Given the description of an element on the screen output the (x, y) to click on. 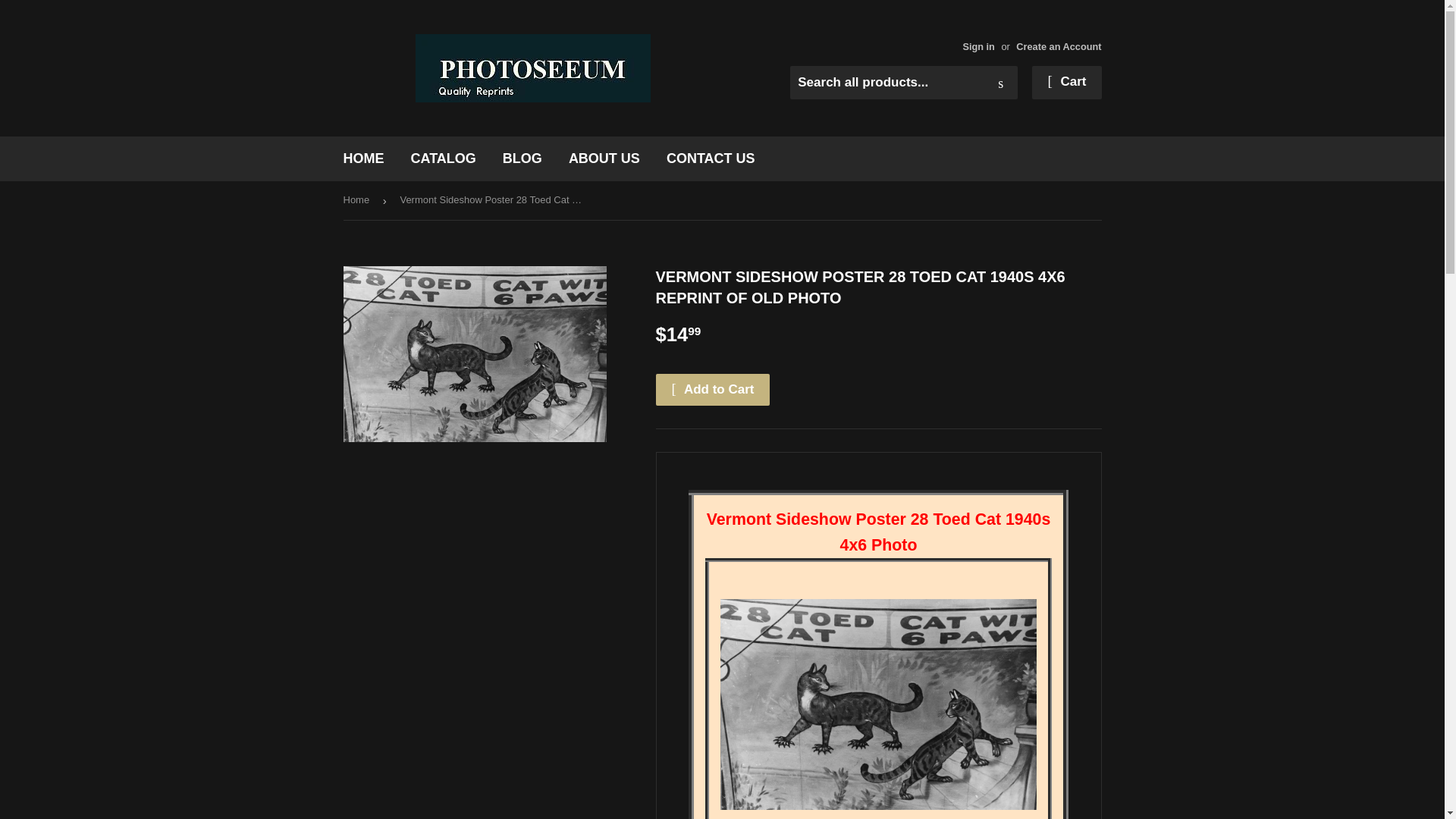
Cart (1066, 82)
Create an Account (1058, 46)
Back to the frontpage (358, 200)
Home (358, 200)
Add to Cart (712, 389)
Sign in (978, 46)
Search (1000, 83)
CONTACT US (711, 158)
BLOG (522, 158)
HOME (363, 158)
ABOUT US (603, 158)
CATALOG (442, 158)
